Given the description of an element on the screen output the (x, y) to click on. 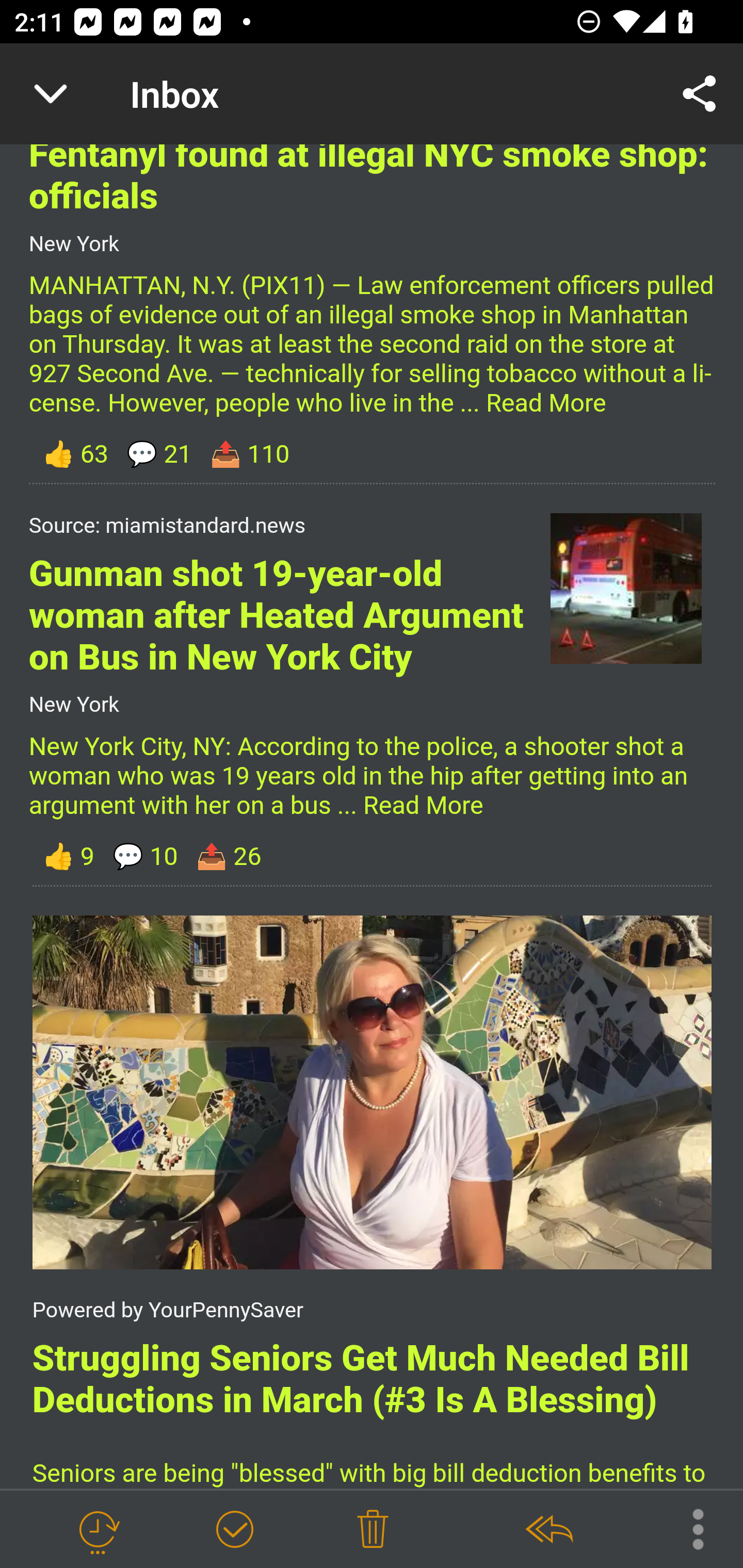
Navigate up (50, 93)
Share (699, 93)
👍 63   💬 21   📤 110 (371, 454)
👍 9   💬 10   📤 26 (371, 857)
3 local news image (371, 1093)
More Options (687, 1528)
Snooze (97, 1529)
Mark as Done (234, 1529)
Delete (372, 1529)
Reply All (548, 1529)
